Given the description of an element on the screen output the (x, y) to click on. 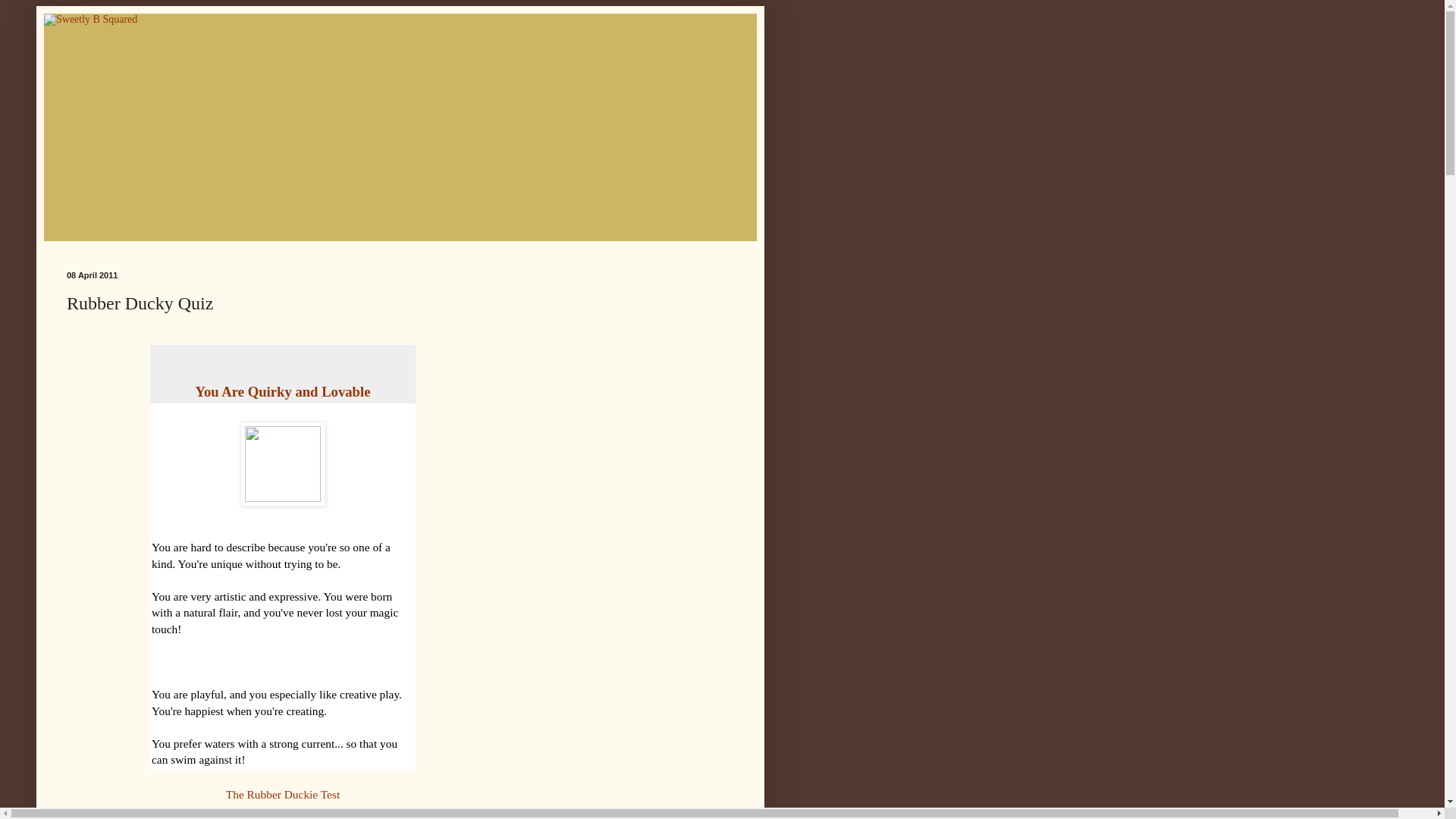
The Rubber Duckie Test (282, 793)
You Are Quirky and Lovable (283, 391)
